Given the description of an element on the screen output the (x, y) to click on. 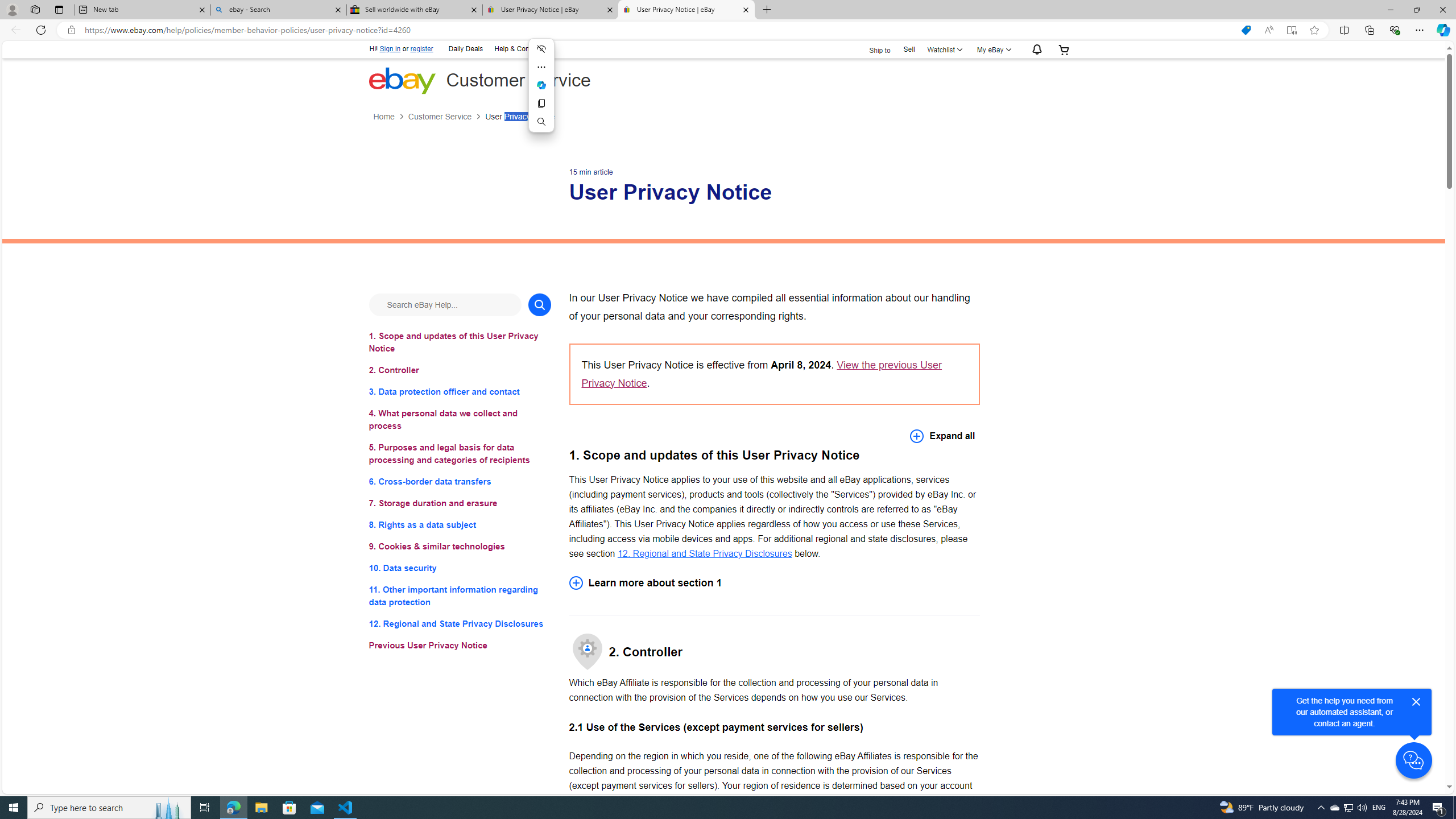
9. Cookies & similar technologies (459, 546)
Home (383, 117)
Hide menu (540, 49)
2. Controller (459, 369)
My eBay (992, 49)
Sell (908, 49)
3. Data protection officer and contact (459, 391)
9. Cookies & similar technologies (459, 546)
Sign in (390, 49)
